Given the description of an element on the screen output the (x, y) to click on. 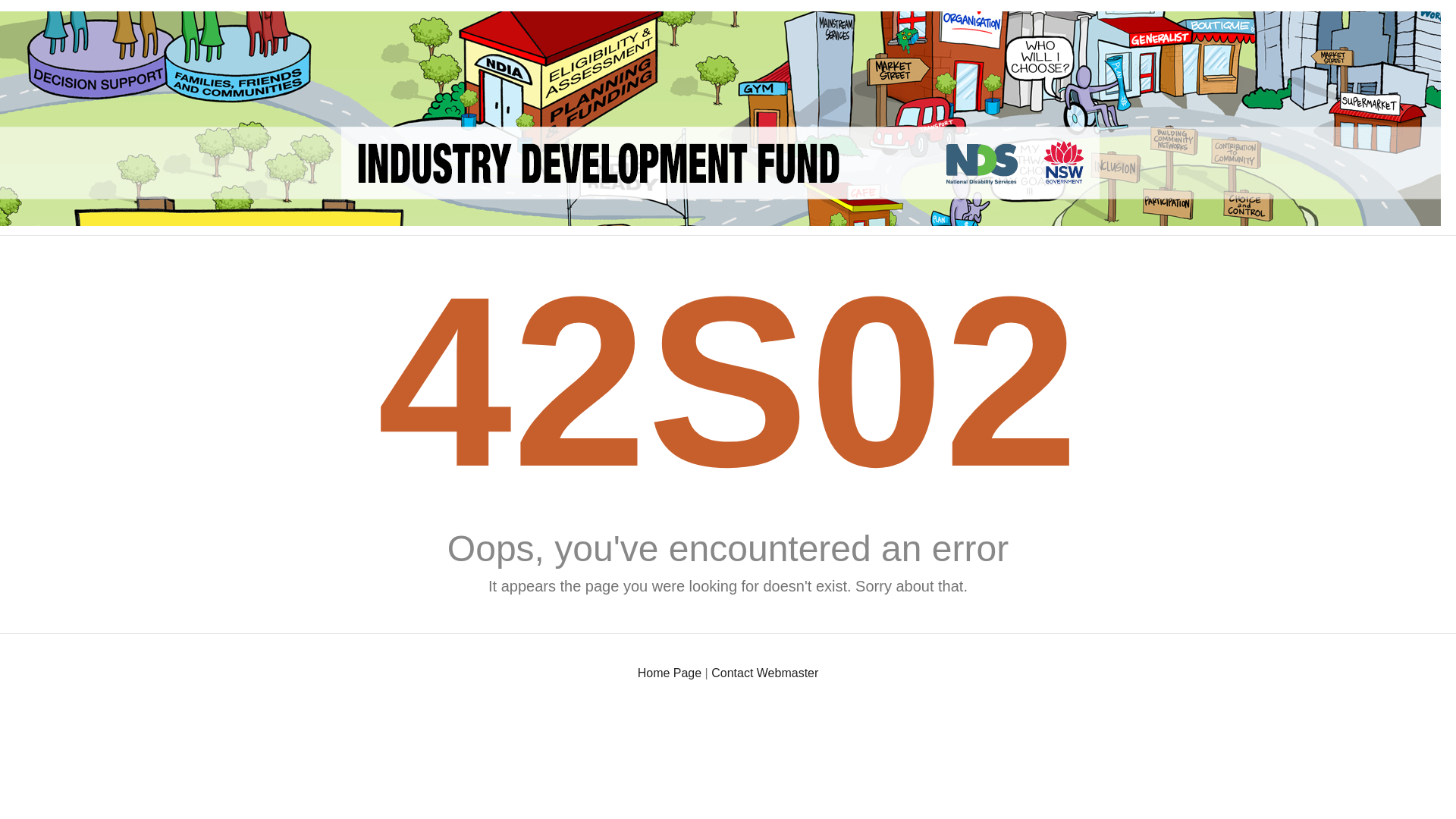
Home Page Element type: text (669, 672)
Contact Webmaster Element type: text (764, 672)
